Given the description of an element on the screen output the (x, y) to click on. 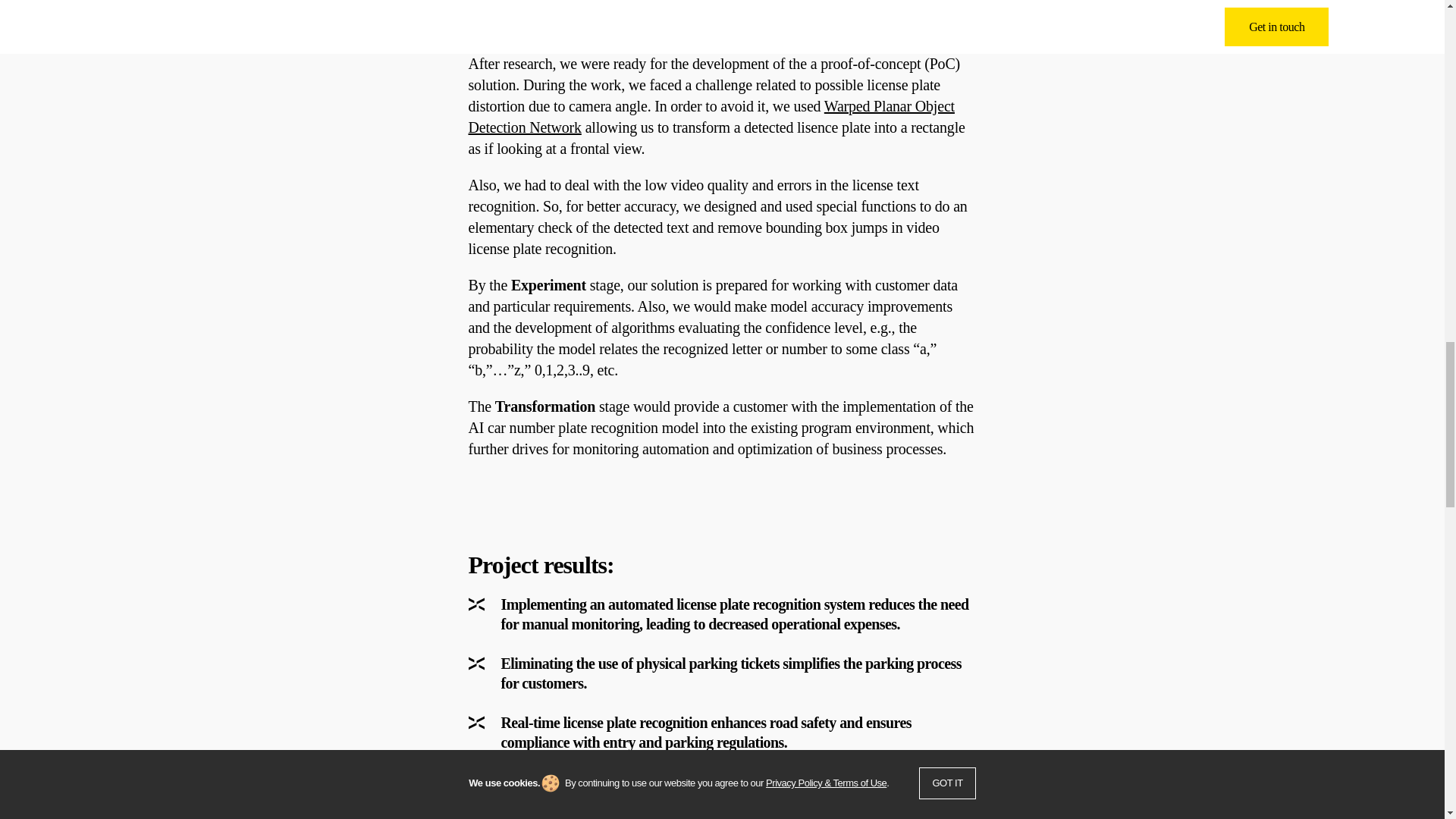
Warped Planar Object Detection Network (711, 116)
